Given the description of an element on the screen output the (x, y) to click on. 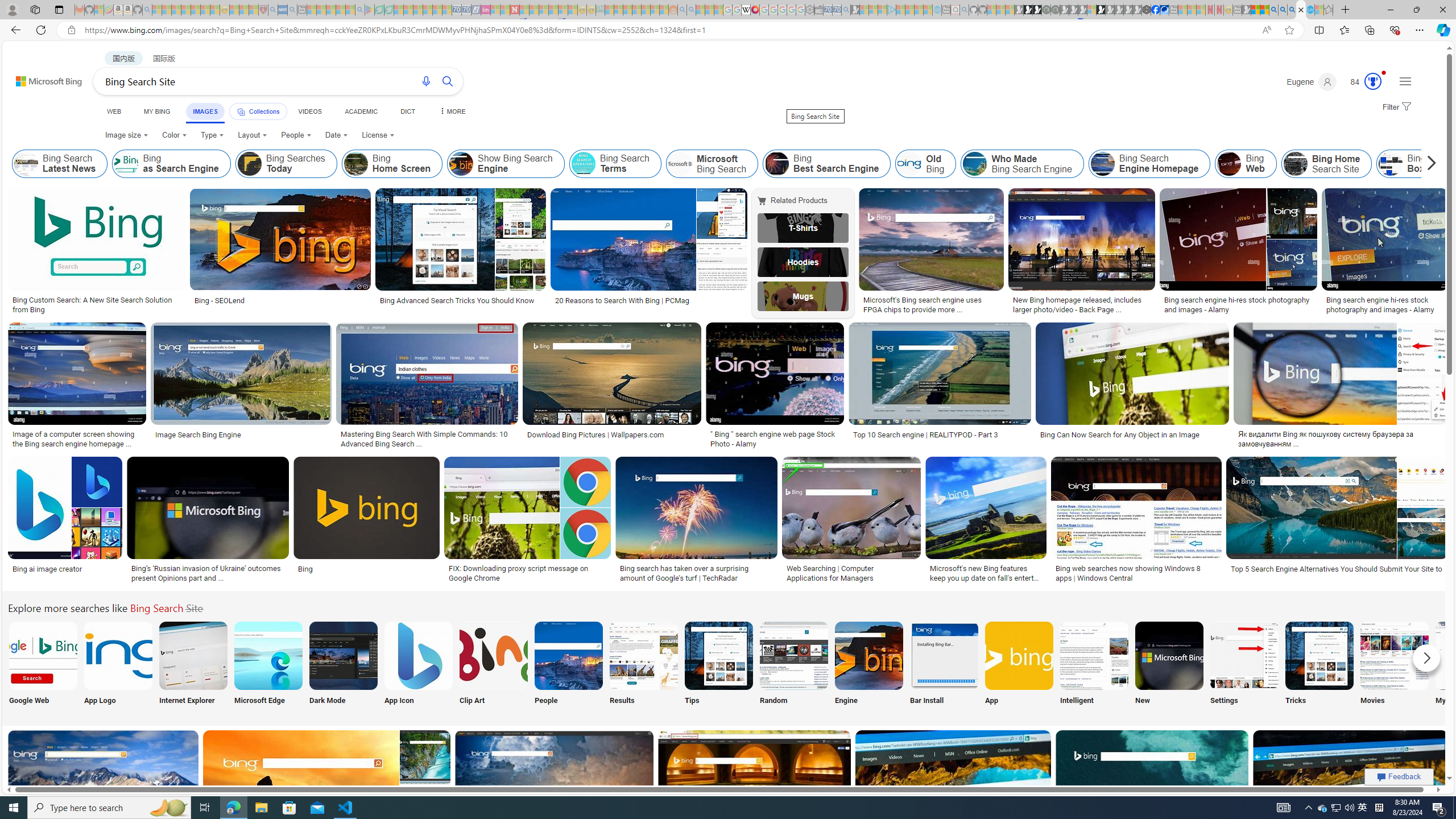
Google Web Search Bing Google Web (42, 665)
Bing Advanced Search Tricks You Should Know (457, 299)
20 Reasons to Search With Bing | PCMag (621, 299)
Type (212, 135)
Bing Searches Today (249, 163)
MY BING (156, 111)
Nordace | Facebook (1154, 9)
Microsoft Edge (268, 665)
Bing Best Search Engine (776, 163)
